Given the description of an element on the screen output the (x, y) to click on. 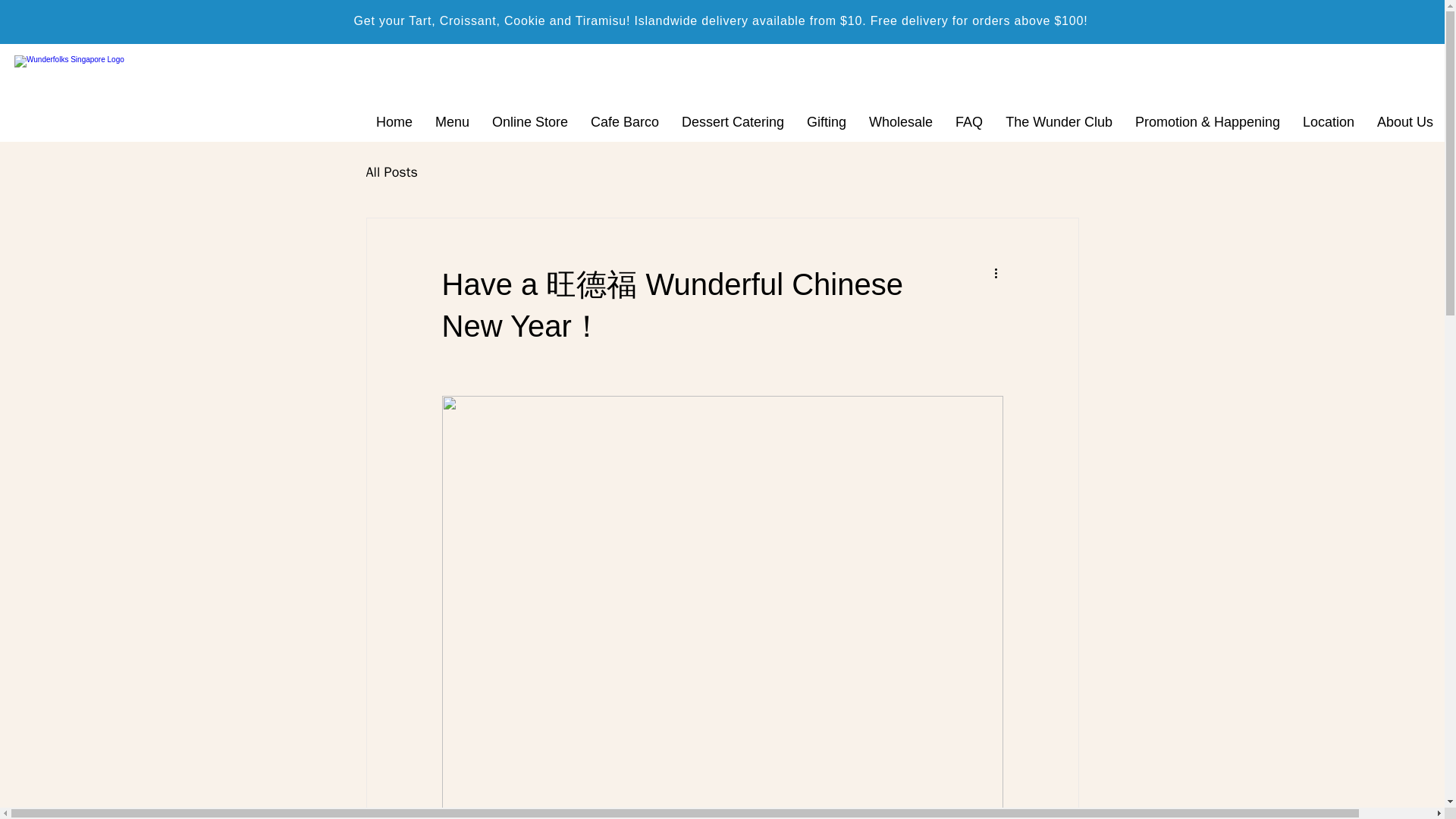
All Posts (390, 171)
Location (1328, 121)
Gifting (825, 121)
About Us (1404, 121)
Menu (451, 121)
Dessert Catering (731, 121)
Cafe Barco (624, 121)
Blue logo with the word Wunderfolks (73, 79)
FAQ (968, 121)
Online Store (529, 121)
Home (394, 121)
Wholesale (900, 121)
The Wunder Club (1059, 121)
